Given the description of an element on the screen output the (x, y) to click on. 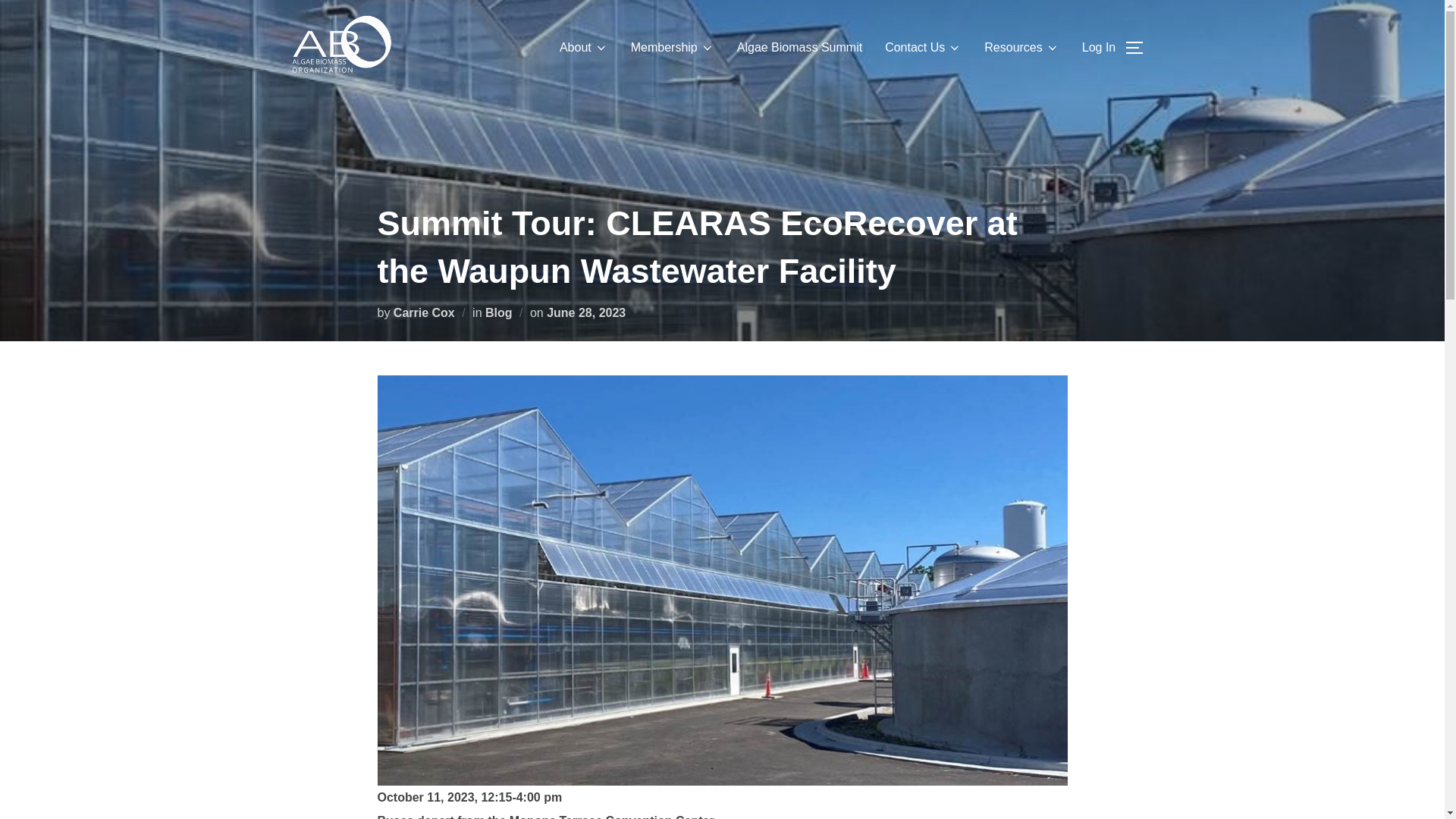
Log In (1098, 47)
Membership (672, 47)
Algae Biomass Summit (798, 47)
Contact Us (922, 47)
Carrie Cox (423, 312)
Resources (1021, 47)
About (583, 47)
